Given the description of an element on the screen output the (x, y) to click on. 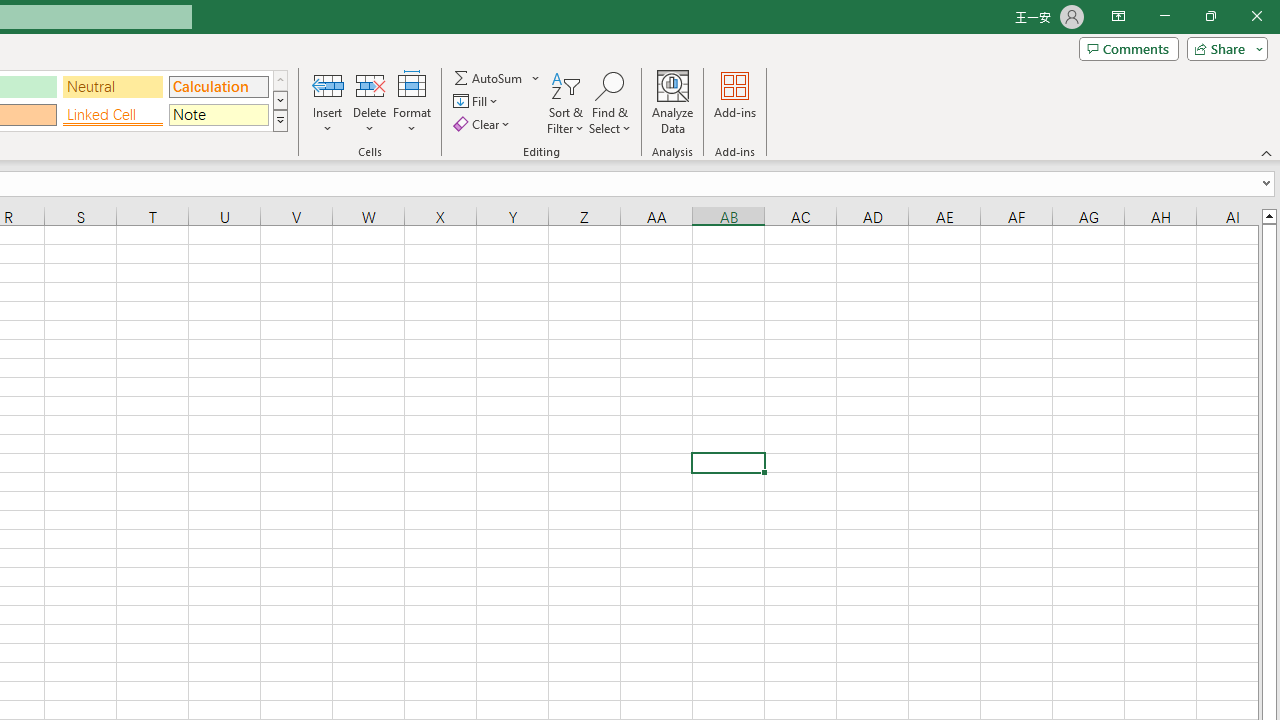
Line up (1268, 215)
Share (1223, 48)
Sort & Filter (566, 102)
Linked Cell (113, 114)
Ribbon Display Options (1118, 16)
Format (411, 102)
Row up (280, 79)
Analyze Data (673, 102)
Calculation (218, 86)
Sum (489, 78)
AutoSum (497, 78)
Fill (477, 101)
Note (218, 114)
Minimize (1164, 16)
Comments (1128, 48)
